Given the description of an element on the screen output the (x, y) to click on. 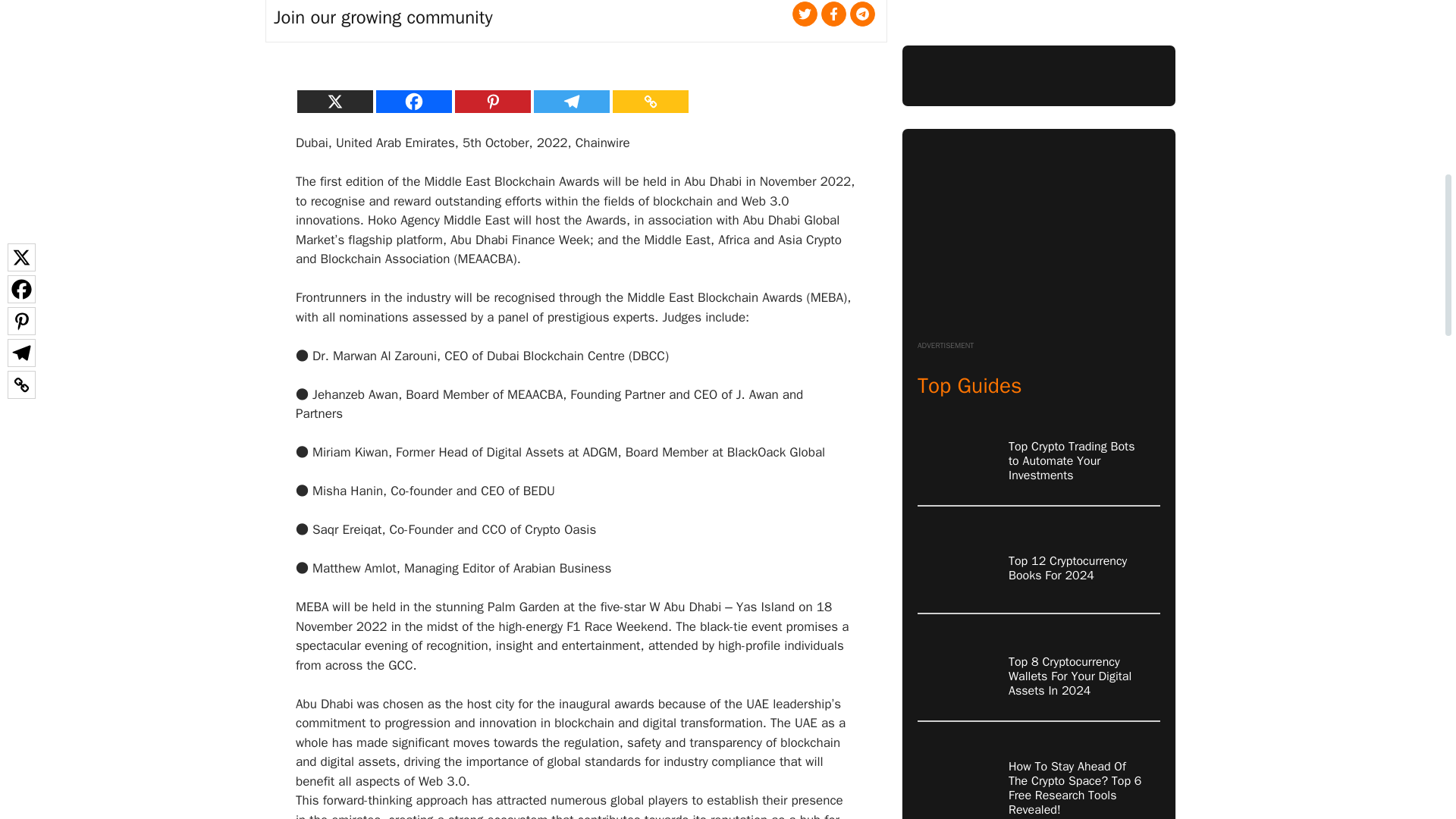
Copy Link (650, 101)
X (334, 101)
Pinterest (492, 101)
Telegram (572, 101)
Facebook (413, 101)
